Given the description of an element on the screen output the (x, y) to click on. 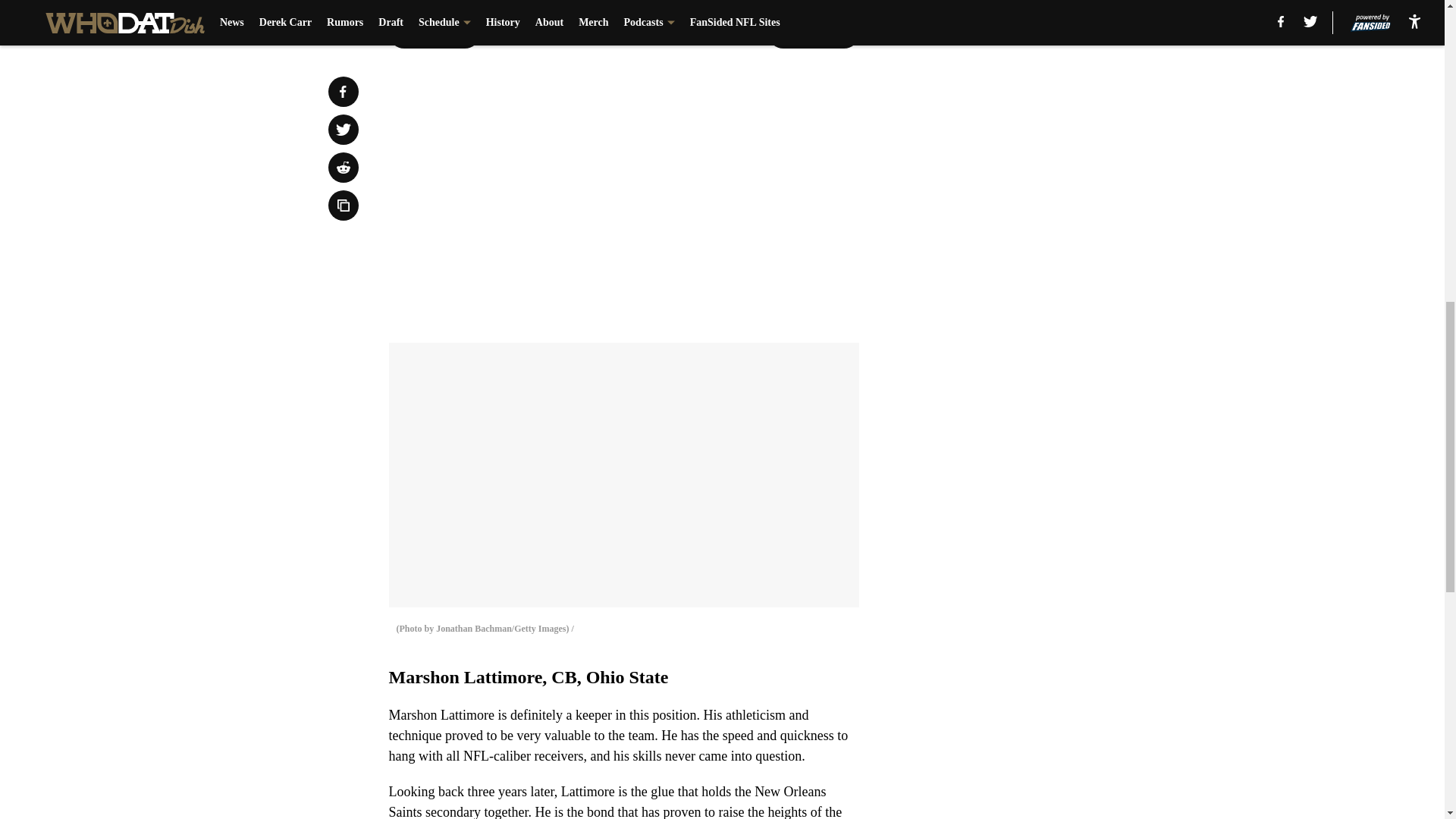
Next (813, 33)
Prev (433, 33)
